Given the description of an element on the screen output the (x, y) to click on. 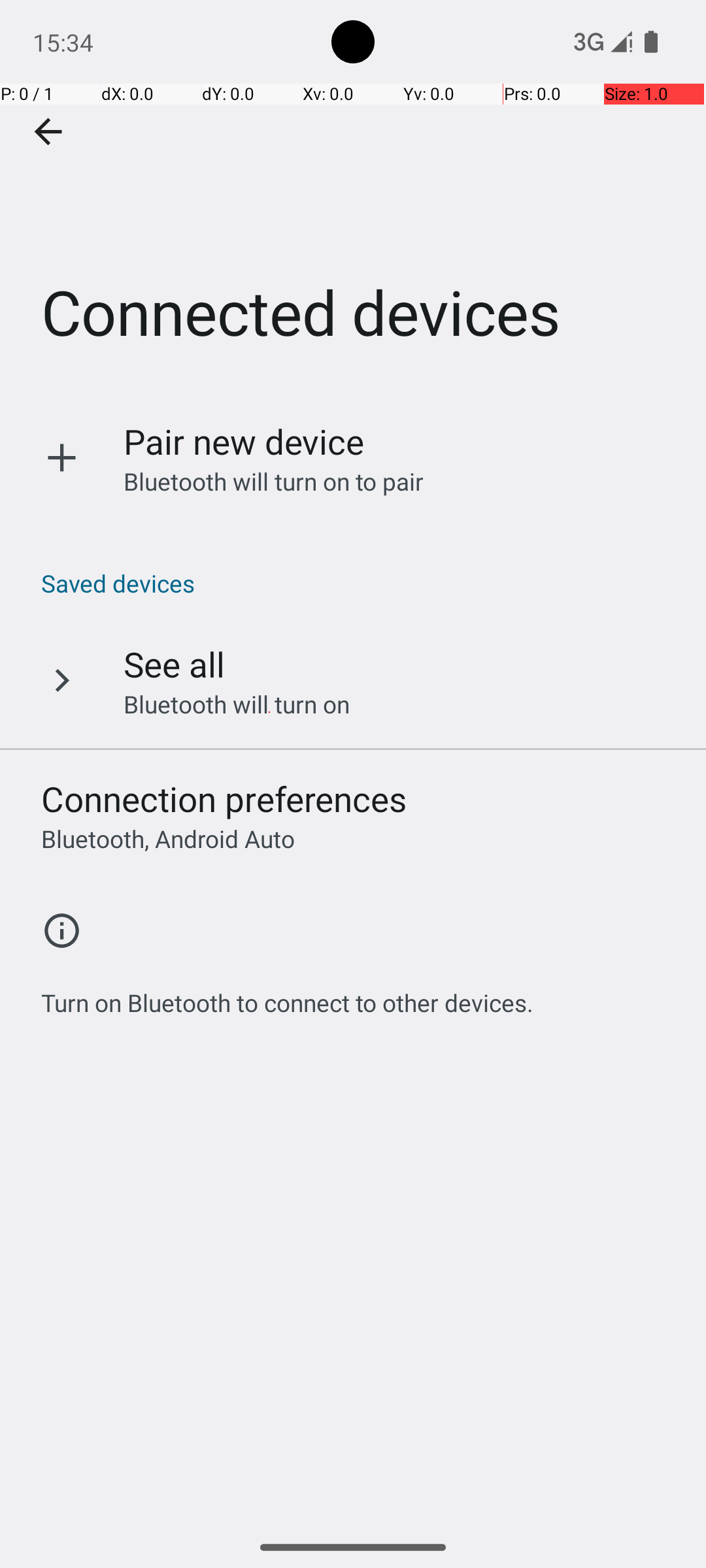
Pair new device Element type: android.widget.TextView (243, 441)
Bluetooth will turn on to pair Element type: android.widget.TextView (273, 480)
Saved devices Element type: android.widget.TextView (359, 582)
See all Element type: android.widget.TextView (173, 663)
Bluetooth will turn on Element type: android.widget.TextView (236, 703)
Connection preferences Element type: android.widget.TextView (224, 798)
Bluetooth, Android Auto Element type: android.widget.TextView (167, 838)
Turn on Bluetooth to connect to other devices. Element type: android.widget.TextView (287, 995)
